Given the description of an element on the screen output the (x, y) to click on. 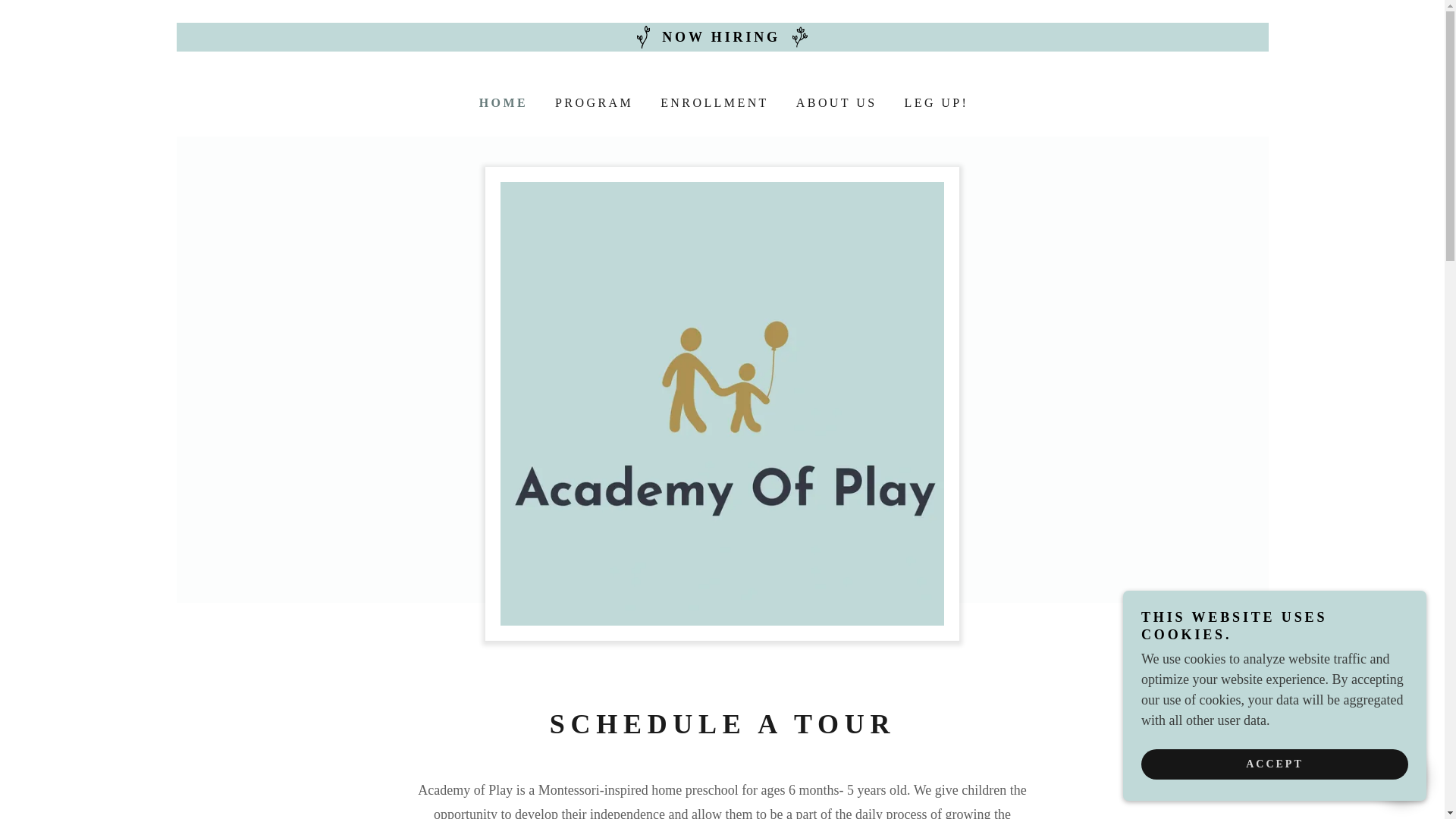
HOME (501, 103)
LEG UP! (934, 103)
ENROLLMENT (712, 103)
PROGRAM (592, 103)
ABOUT US (835, 103)
ACCEPT (1274, 764)
